Given the description of an element on the screen output the (x, y) to click on. 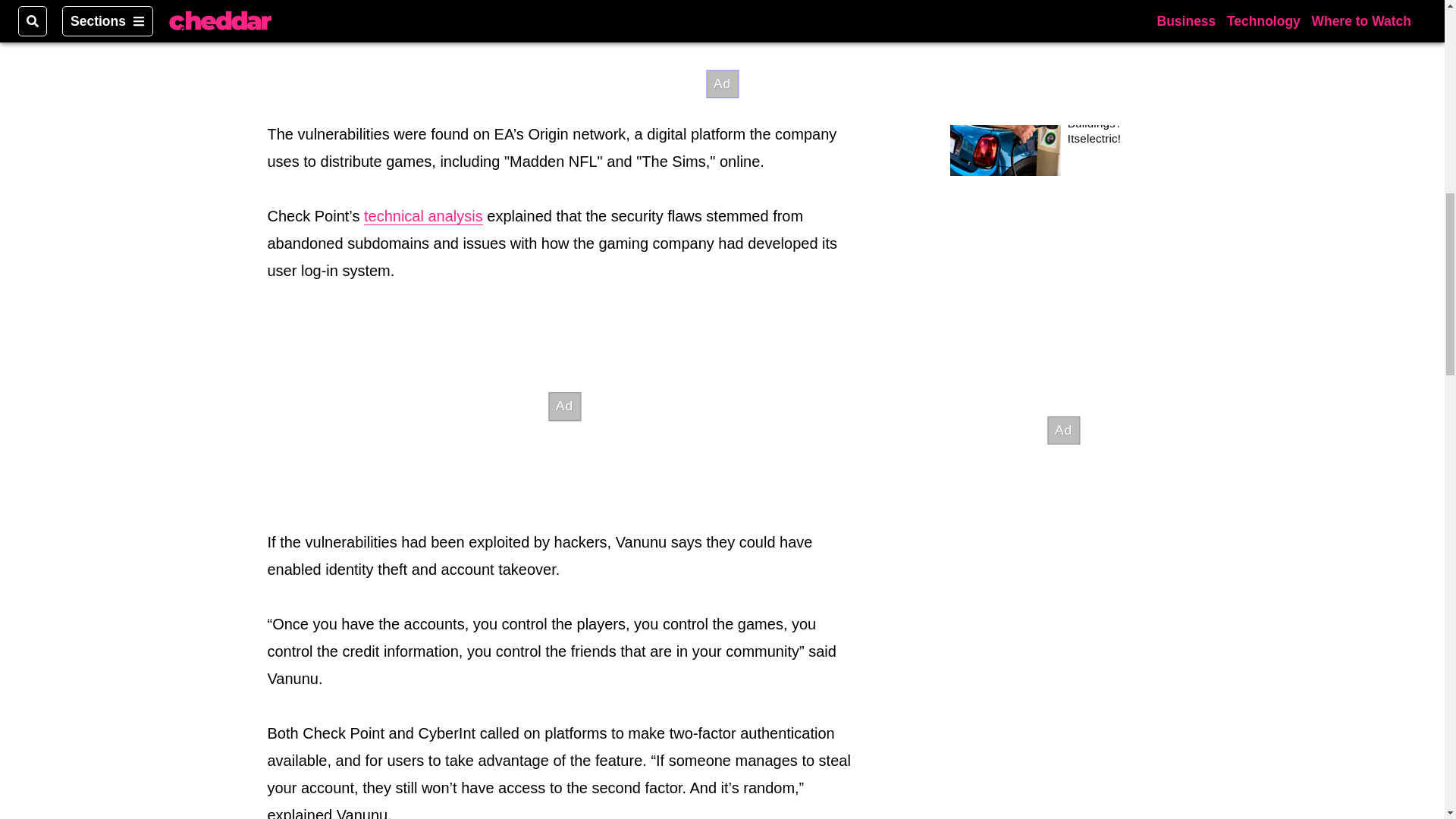
3rd party ad content (563, 5)
technical analysis (423, 216)
3rd party ad content (563, 406)
